Given the description of an element on the screen output the (x, y) to click on. 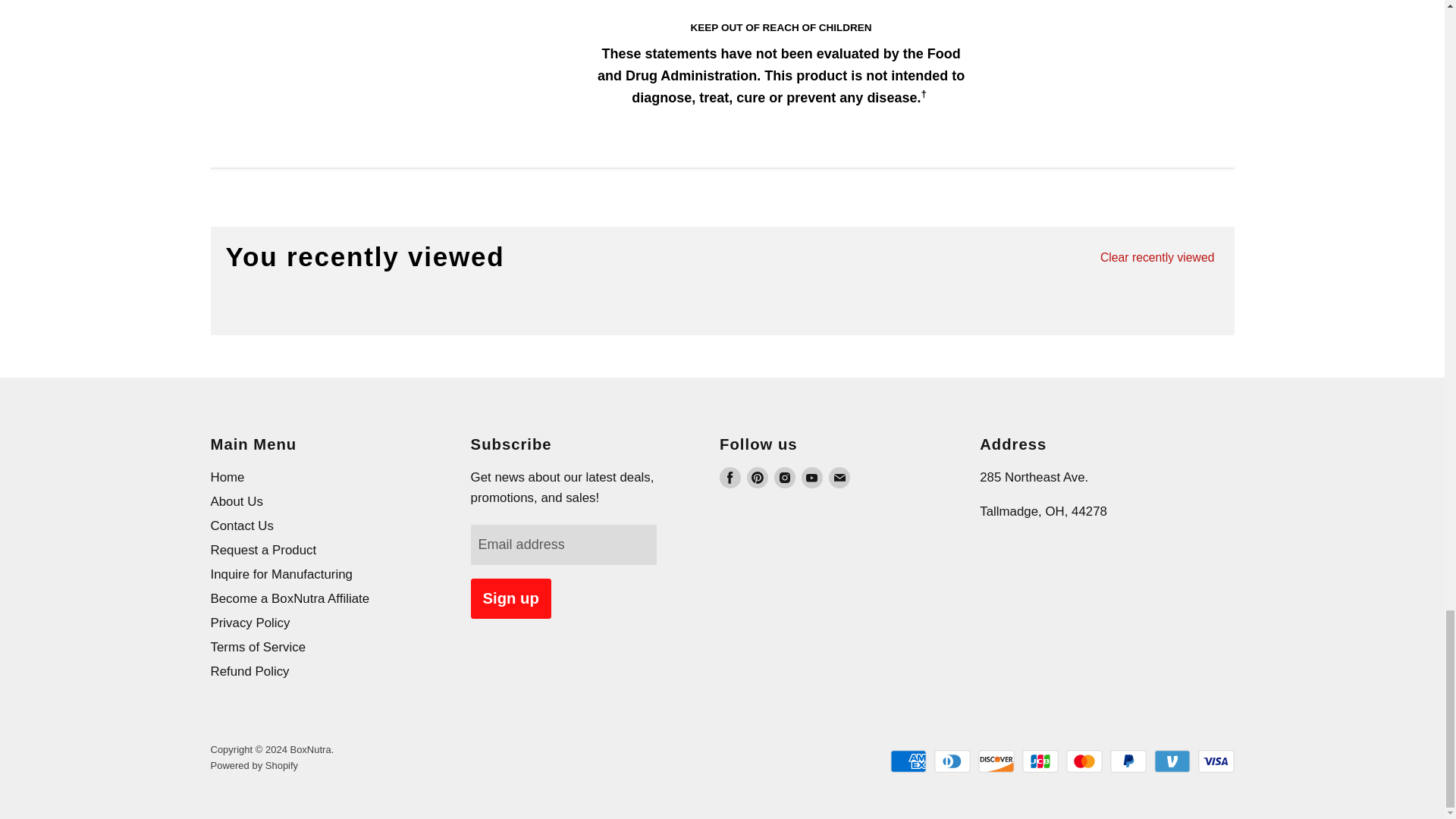
Diners Club (952, 761)
Discover (996, 761)
Pinterest (757, 477)
Instagram (784, 477)
JCB (1040, 761)
Youtube (812, 477)
E-mail (839, 477)
Mastercard (1083, 761)
Facebook (730, 477)
American Express (907, 761)
